Given the description of an element on the screen output the (x, y) to click on. 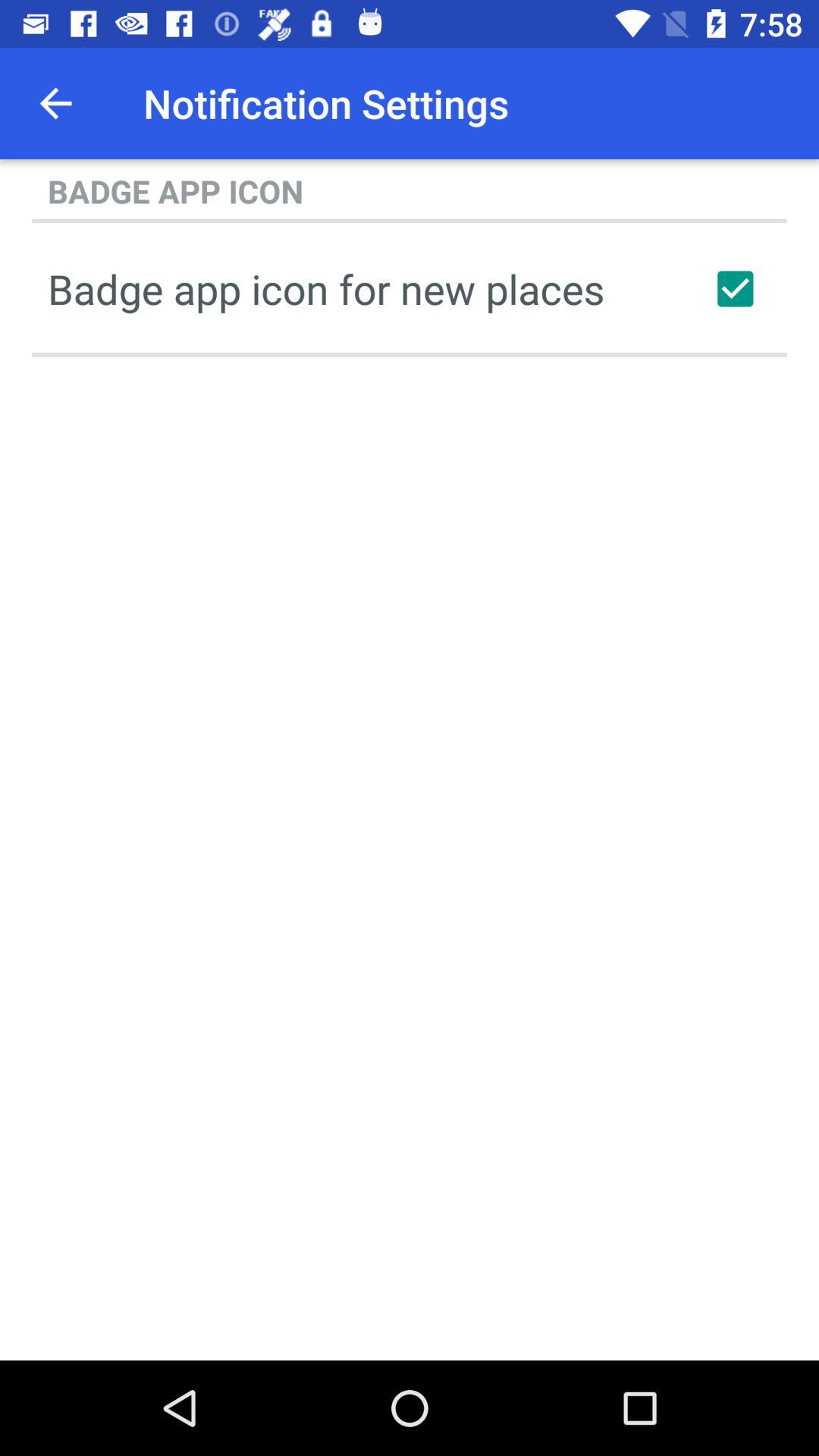
launch icon above the badge app icon (55, 103)
